Given the description of an element on the screen output the (x, y) to click on. 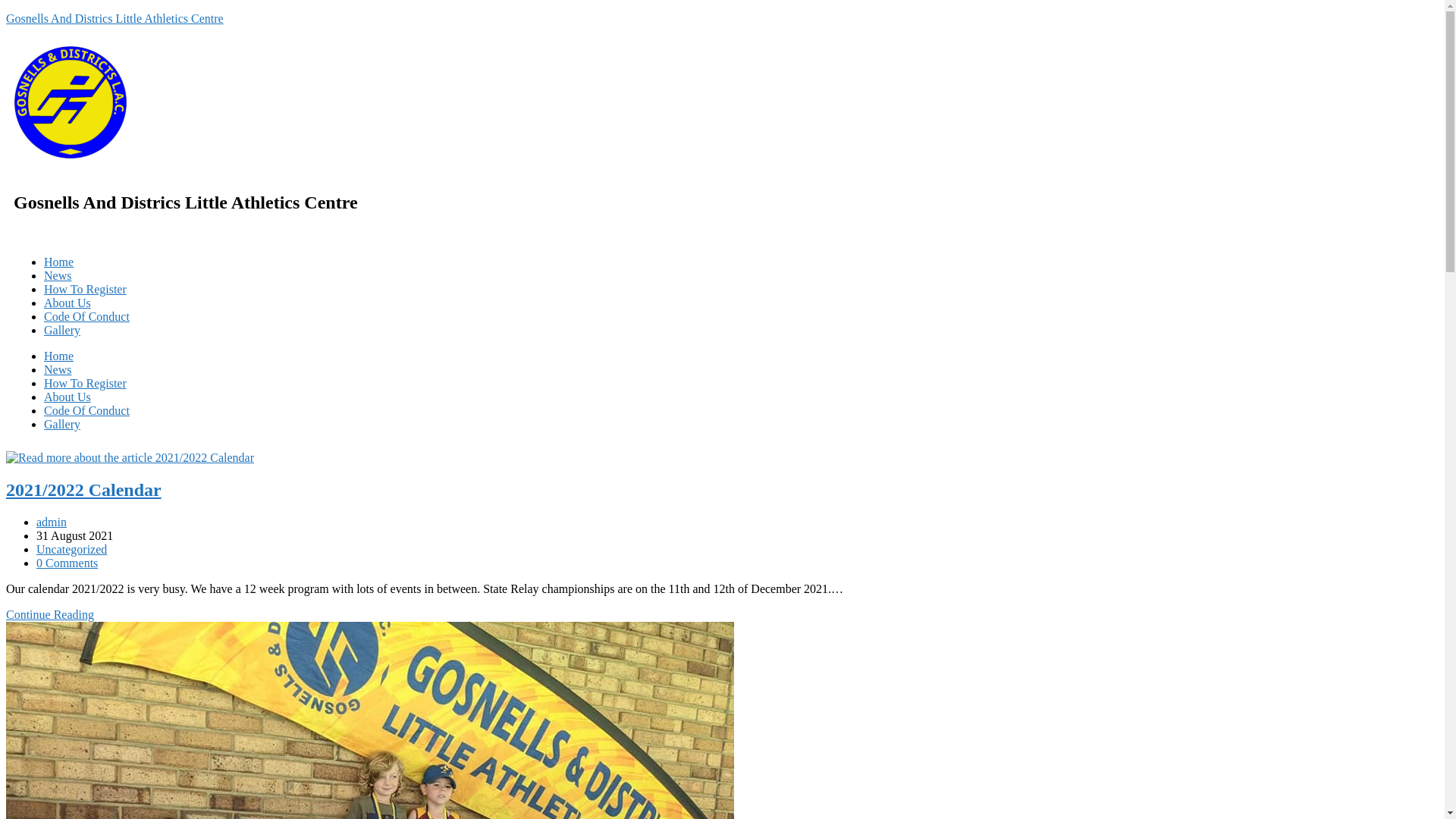
Home Element type: text (58, 355)
0 Comments Element type: text (66, 562)
Home Element type: text (58, 261)
Code Of Conduct Element type: text (86, 410)
About Us Element type: text (67, 396)
Gosnells And Districs Little Athletics Centre Element type: text (114, 18)
2021/2022 Calendar Element type: text (83, 489)
Uncategorized Element type: text (71, 548)
Gallery Element type: text (61, 423)
Continue Reading
2021/2022 Calendar Element type: text (50, 614)
How To Register Element type: text (84, 382)
News Element type: text (57, 275)
Code Of Conduct Element type: text (86, 316)
Skip to content Element type: text (5, 11)
About Us Element type: text (67, 302)
Gallery Element type: text (61, 329)
admin Element type: text (51, 521)
News Element type: text (57, 369)
How To Register Element type: text (84, 288)
